Given the description of an element on the screen output the (x, y) to click on. 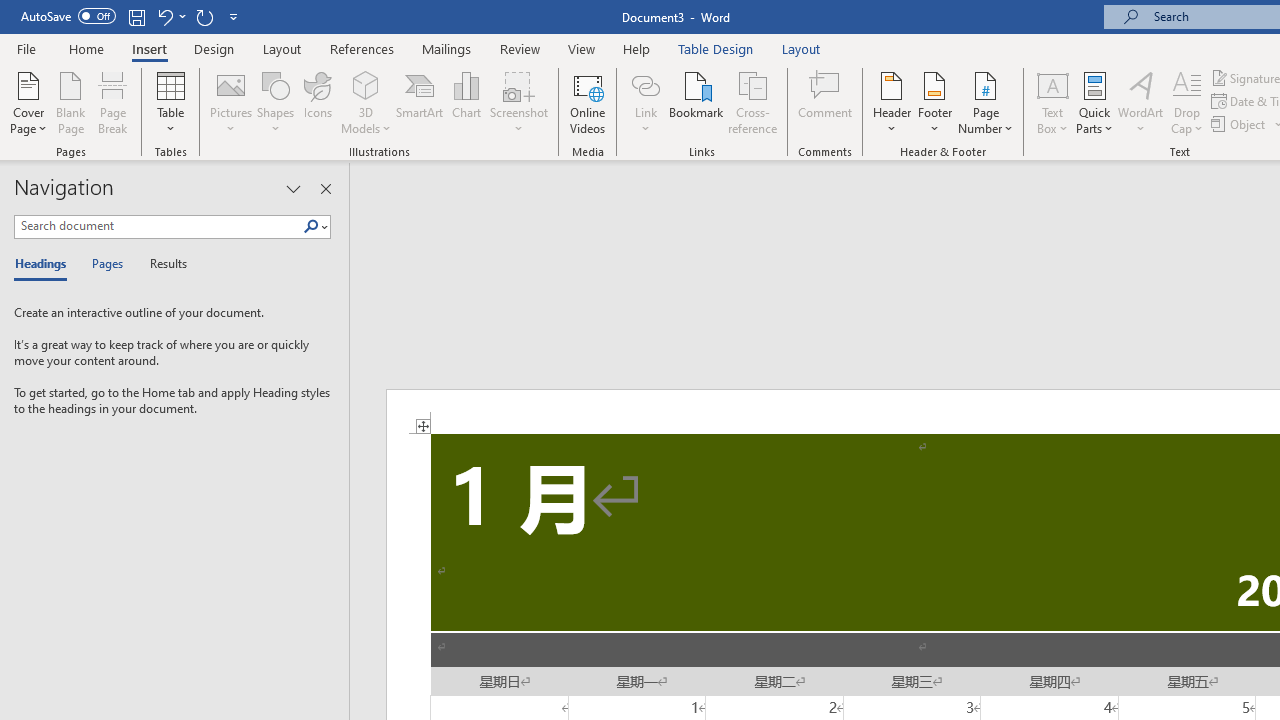
Results (161, 264)
Chart... (466, 102)
Review (520, 48)
Home (86, 48)
References (362, 48)
Undo Increase Indent (164, 15)
Help (637, 48)
Layout (801, 48)
Blank Page (70, 102)
Comment (825, 102)
Table Design (715, 48)
Task Pane Options (293, 188)
More Options (645, 121)
Cover Page (28, 102)
Mailings (447, 48)
